Given the description of an element on the screen output the (x, y) to click on. 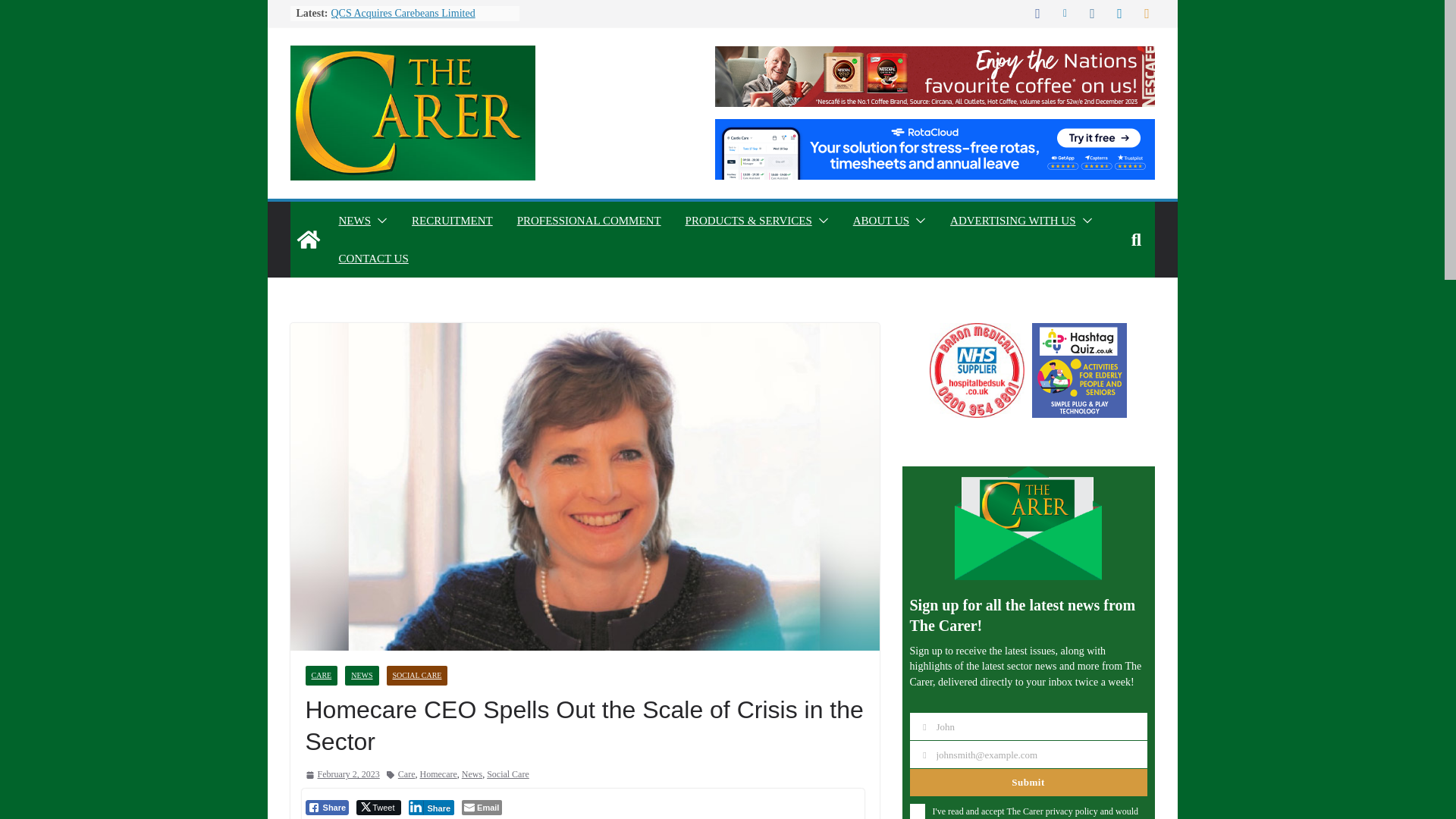
RECRUITMENT (452, 220)
QCS Acquires Carebeans Limited (402, 12)
The Carer (307, 239)
10:27 am (341, 774)
PROFESSIONAL COMMENT (588, 220)
QCS Acquires Carebeans Limited (402, 12)
NEWS (354, 220)
